Given the description of an element on the screen output the (x, y) to click on. 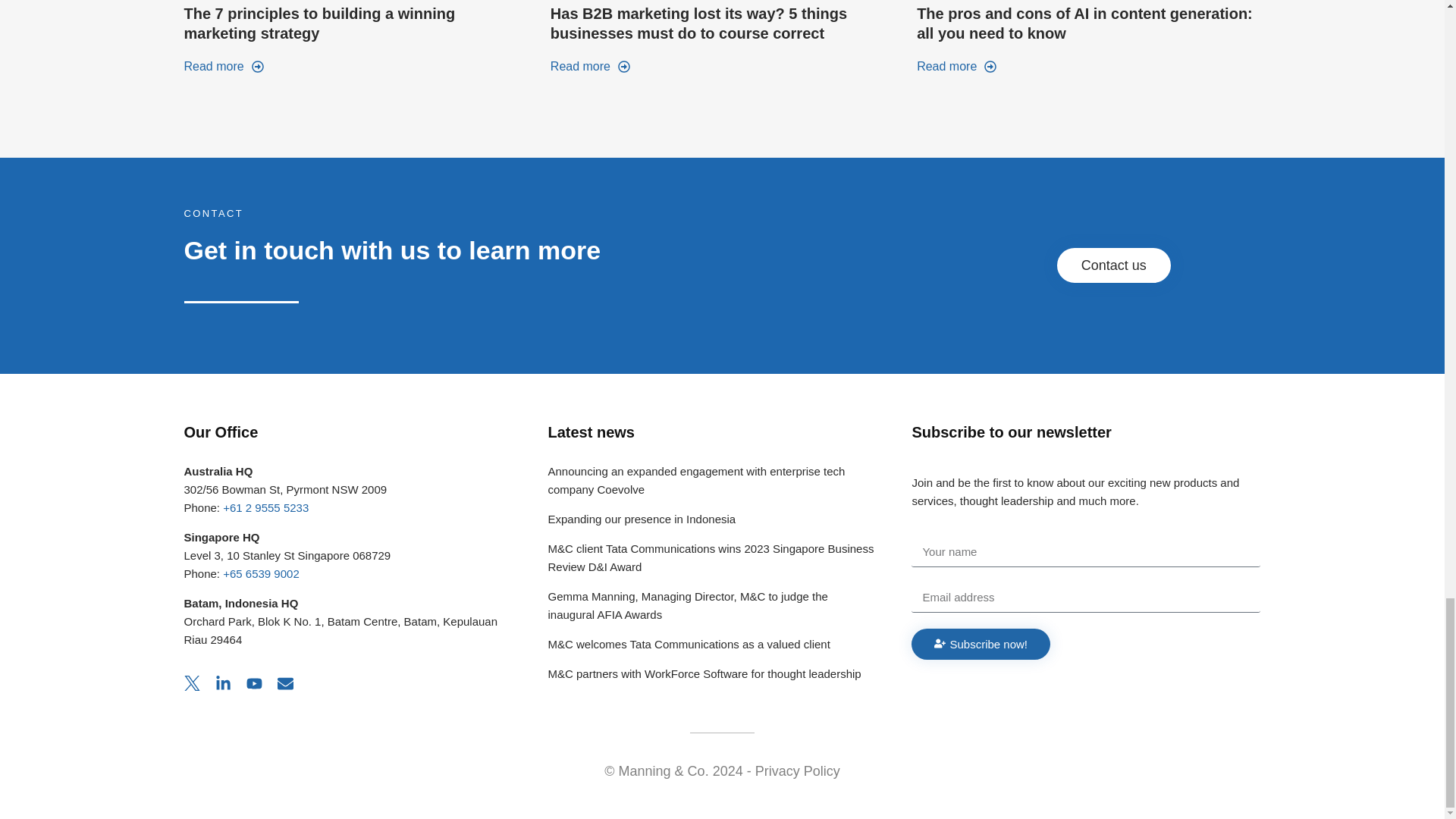
Read more (590, 67)
Contact us (1113, 265)
Read more (223, 67)
Read more (956, 67)
The 7 principles to building a winning marketing strategy (318, 22)
Expanding our presence in Indonesia (641, 518)
